Given the description of an element on the screen output the (x, y) to click on. 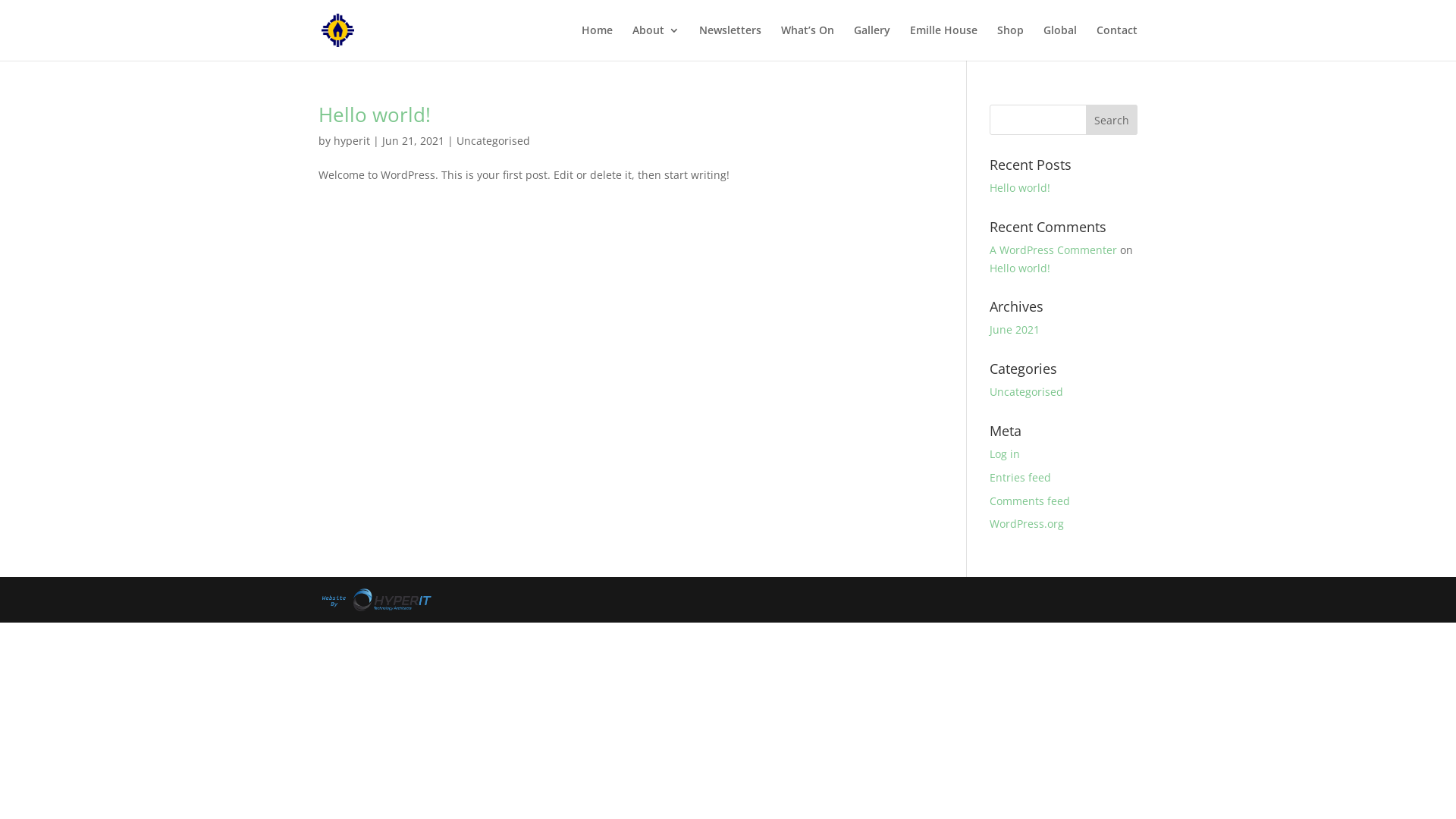
Home Element type: text (596, 42)
Hello world! Element type: text (1019, 187)
Site By Hyper I.T. Element type: text (375, 599)
Global Element type: text (1059, 42)
Emille House Element type: text (943, 42)
Comments feed Element type: text (1029, 500)
WordPress.org Element type: text (1026, 523)
Shop Element type: text (1010, 42)
Log in Element type: text (1004, 453)
Uncategorised Element type: text (1026, 391)
Entries feed Element type: text (1020, 477)
A WordPress Commenter Element type: text (1053, 249)
Search Element type: text (1111, 119)
Contact Element type: text (1116, 42)
Uncategorised Element type: text (493, 140)
Newsletters Element type: text (730, 42)
hyperit Element type: text (351, 140)
Hello world! Element type: text (374, 114)
Gallery Element type: text (871, 42)
About Element type: text (655, 42)
Hello world! Element type: text (1019, 267)
June 2021 Element type: text (1014, 329)
